Given the description of an element on the screen output the (x, y) to click on. 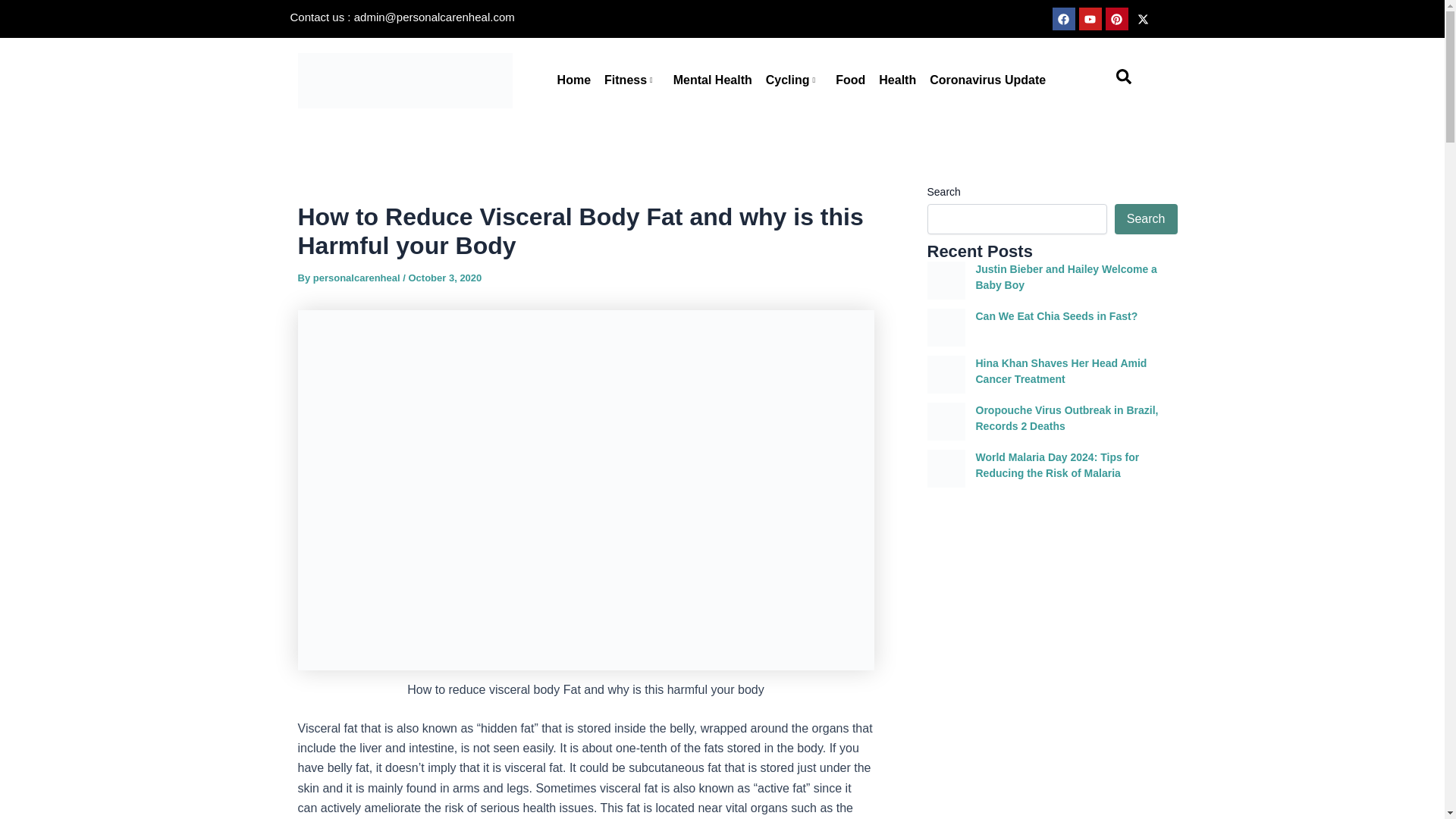
Facebook (1063, 18)
Food (850, 80)
Pinterest (1116, 18)
Cycling (793, 80)
Coronavirus Update (987, 80)
Mental Health (712, 80)
personalcarenheal (358, 277)
View all posts by personalcarenheal (358, 277)
Youtube (1089, 18)
Home (573, 80)
